Given the description of an element on the screen output the (x, y) to click on. 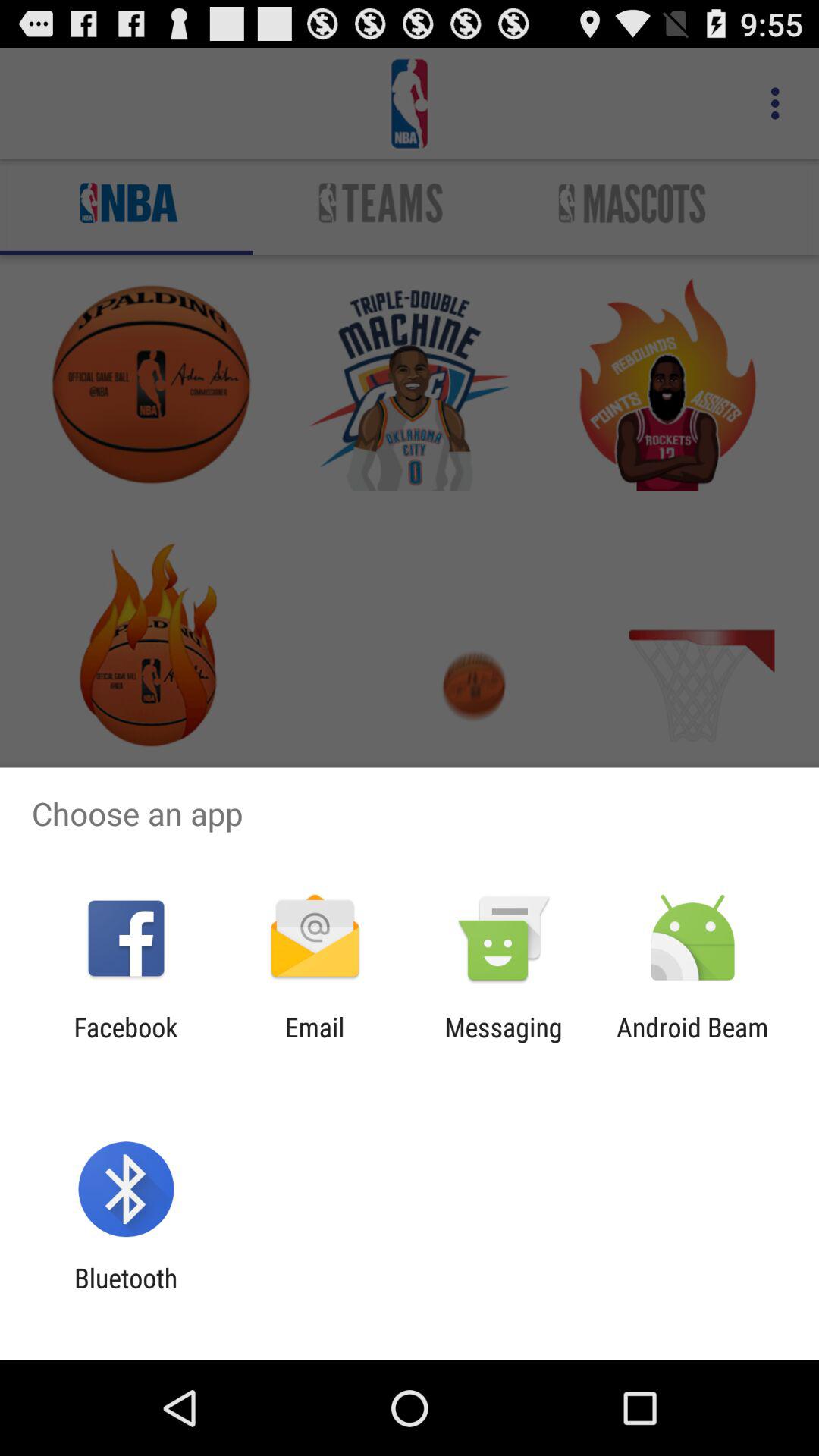
launch the messaging item (503, 1042)
